Given the description of an element on the screen output the (x, y) to click on. 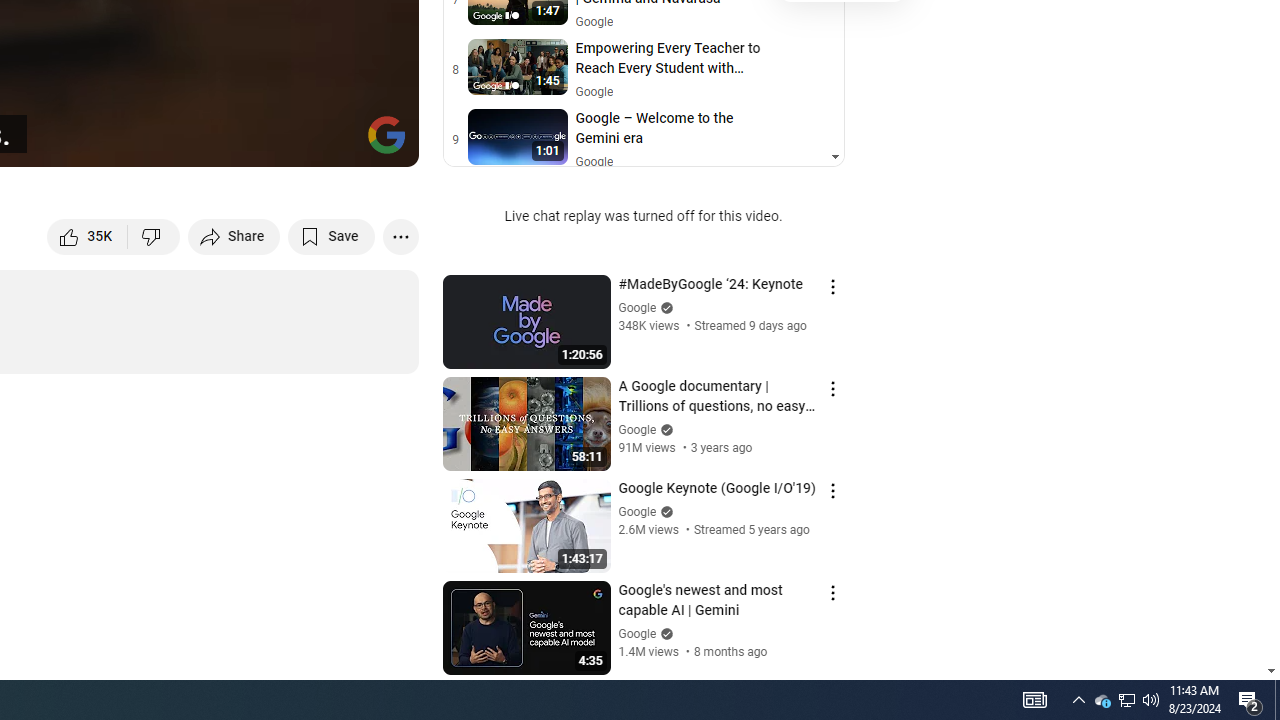
Theater mode (t) (333, 142)
Share (234, 236)
Dislike this video (154, 236)
Full screen (f) (382, 142)
like this video along with 35,367 other people (88, 236)
Verified (664, 632)
Channel watermark (386, 134)
More actions (399, 236)
Save to playlist (331, 236)
Miniplayer (i) (286, 142)
